Given the description of an element on the screen output the (x, y) to click on. 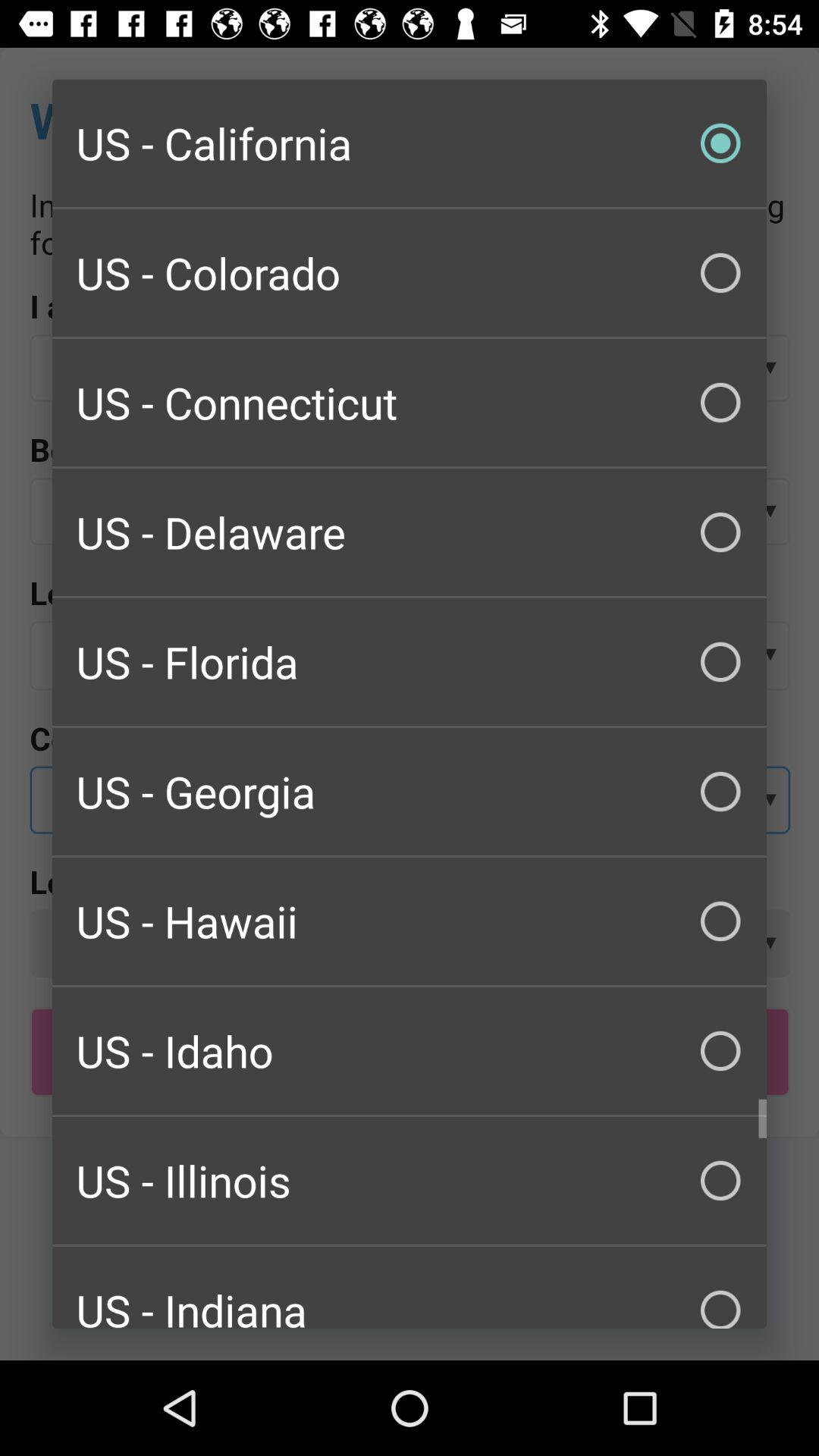
choose us - delaware (409, 532)
